Given the description of an element on the screen output the (x, y) to click on. 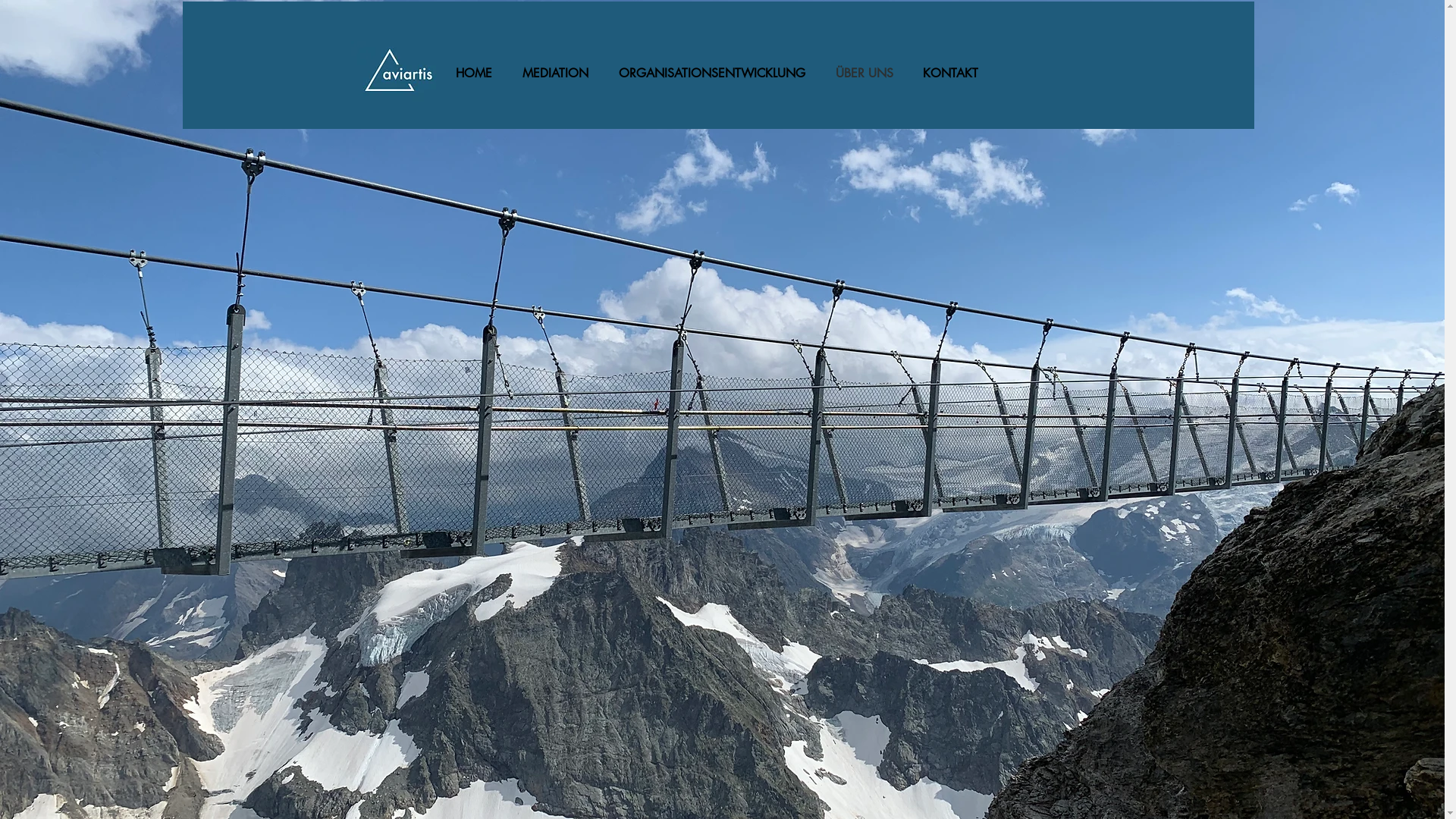
HOME Element type: text (477, 72)
KONTAKT Element type: text (953, 72)
Logo aviartis.JPG Element type: hover (396, 71)
ORGANISATIONSENTWICKLUNG Element type: text (714, 72)
MEDIATION Element type: text (559, 72)
Balken.JPG Element type: hover (717, 64)
